Given the description of an element on the screen output the (x, y) to click on. 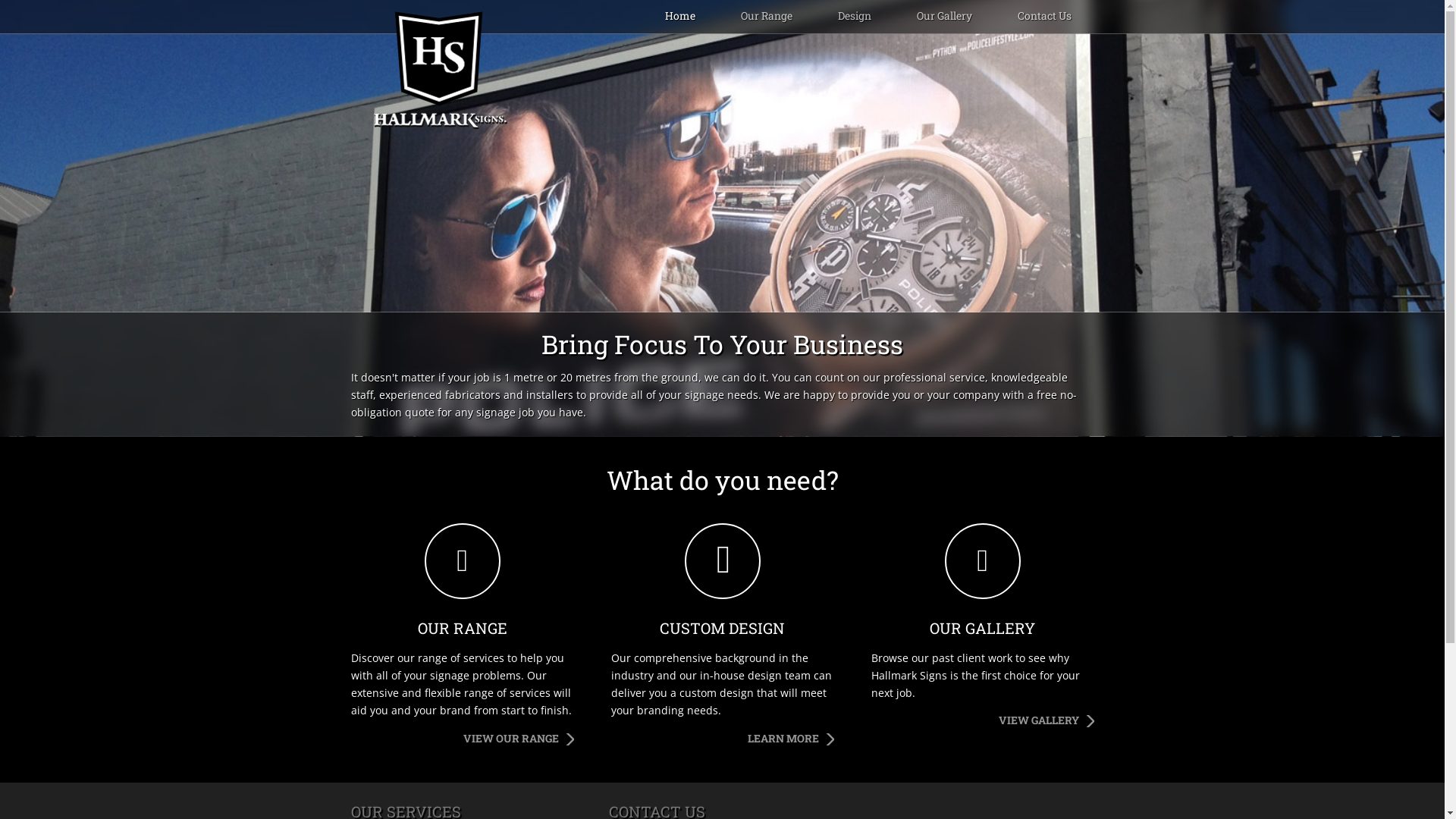
OUR RANGE Element type: text (461, 586)
Design Element type: text (853, 16)
Contact Us Element type: text (1044, 16)
VIEW GALLERY Element type: text (1045, 719)
Our Gallery Element type: text (943, 16)
Our Range Element type: text (765, 16)
VIEW OUR RANGE Element type: text (517, 738)
Home Element type: text (679, 16)
LEARN MORE Element type: text (790, 738)
Hallmark Signs Element type: hover (439, 70)
CUSTOM DESIGN Element type: text (722, 586)
OUR GALLERY Element type: text (981, 586)
